Given the description of an element on the screen output the (x, y) to click on. 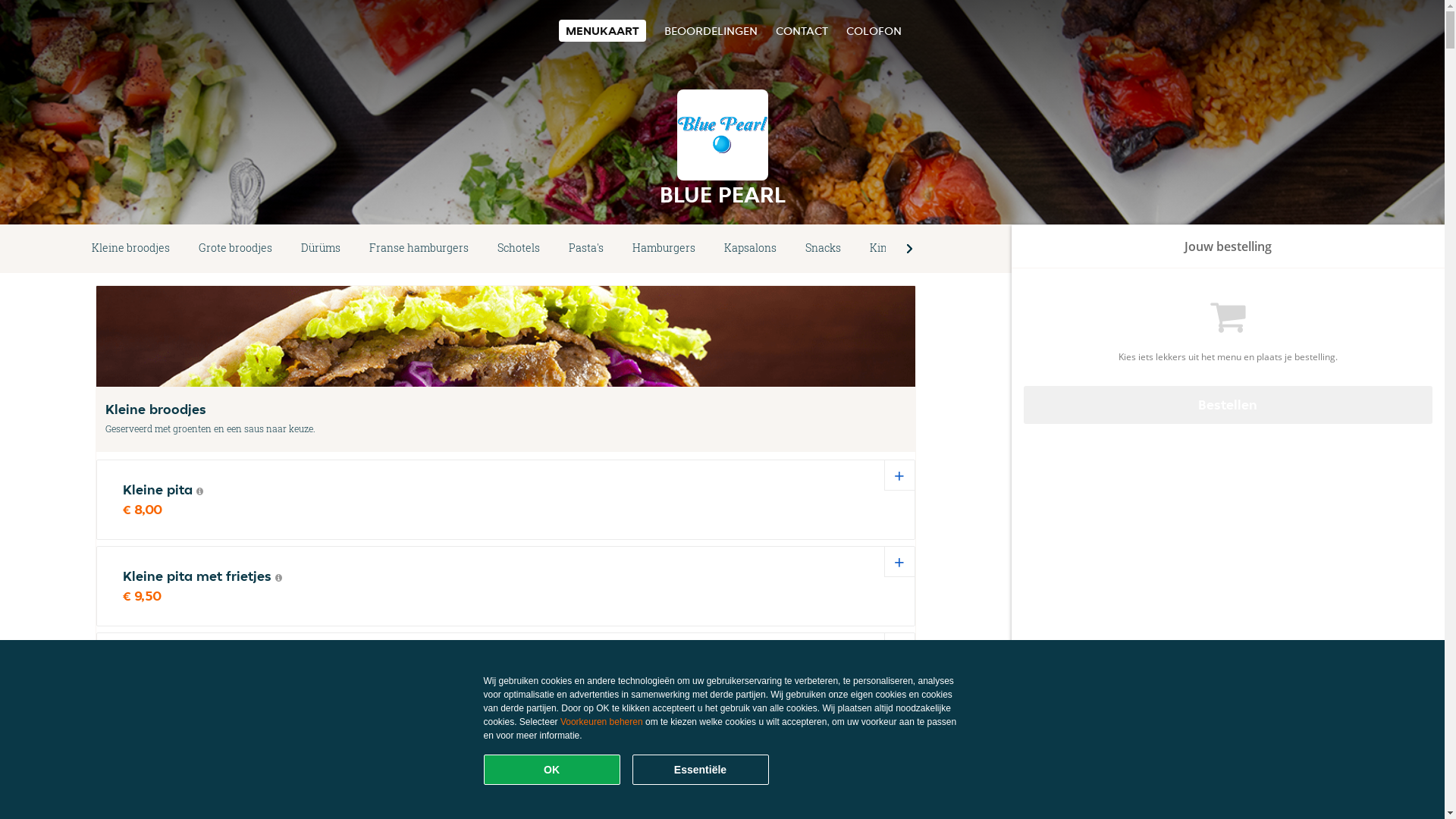
COLOFON Element type: text (873, 30)
Meer productinformatie Element type: hover (278, 577)
Meer productinformatie Element type: hover (199, 491)
Pasta's Element type: text (586, 248)
Grote broodjes Element type: text (235, 248)
Kleine broodjes Element type: text (130, 248)
BEOORDELINGEN Element type: text (710, 30)
Schotels Element type: text (518, 248)
MENUKAART Element type: text (601, 30)
Kindermenu's Element type: text (904, 248)
Bestellen Element type: text (1228, 404)
Voorkeuren beheren Element type: text (601, 721)
OK Element type: text (551, 769)
Snacks Element type: text (822, 248)
CONTACT Element type: text (801, 30)
Franse hamburgers Element type: text (418, 248)
Kapsalons Element type: text (749, 248)
Hamburgers Element type: text (663, 248)
